Given the description of an element on the screen output the (x, y) to click on. 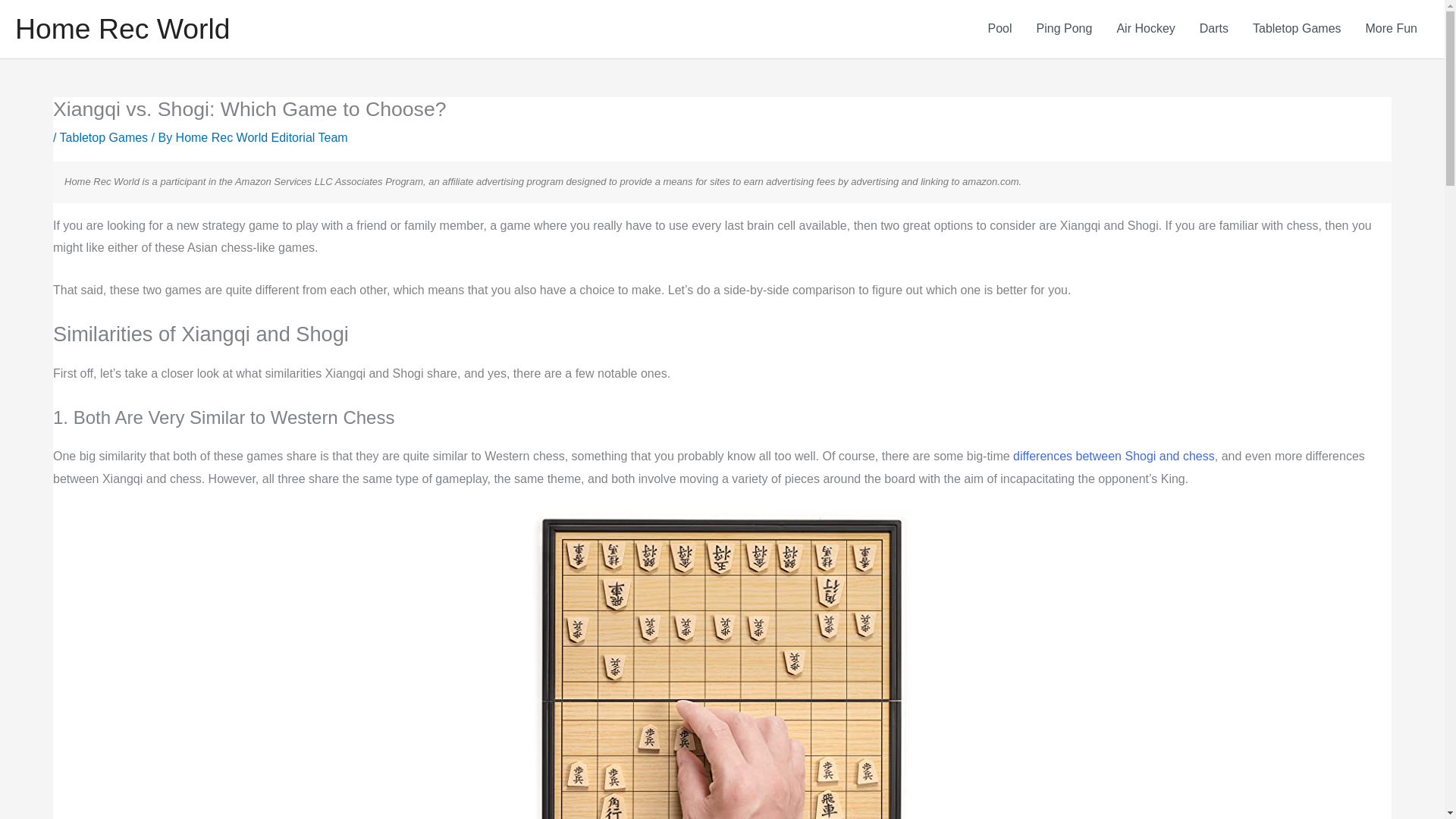
View all posts by Home Rec World Editorial Team (261, 137)
Home Rec World (122, 29)
Air Hockey (1144, 29)
Darts (1214, 29)
Tabletop Games (103, 137)
Ping Pong (1065, 29)
More Fun (1391, 29)
Tabletop Games (1297, 29)
Home Rec World Editorial Team (261, 137)
Playing Shogi - Japanese Chess (721, 664)
